Given the description of an element on the screen output the (x, y) to click on. 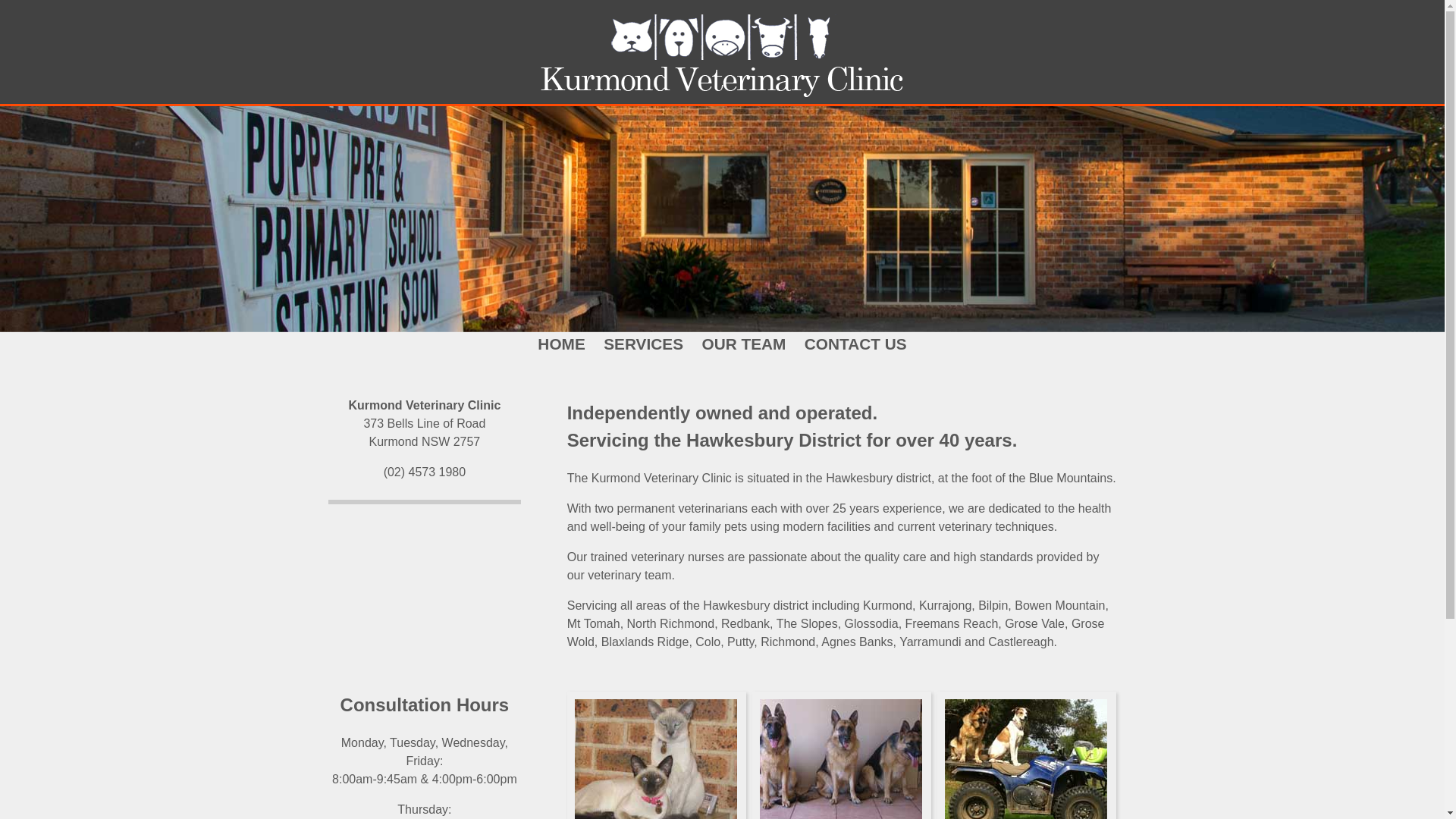
HOME Element type: text (561, 343)
SERVICES Element type: text (643, 343)
CONTACT US Element type: text (855, 343)
OUR TEAM Element type: text (743, 343)
